Given the description of an element on the screen output the (x, y) to click on. 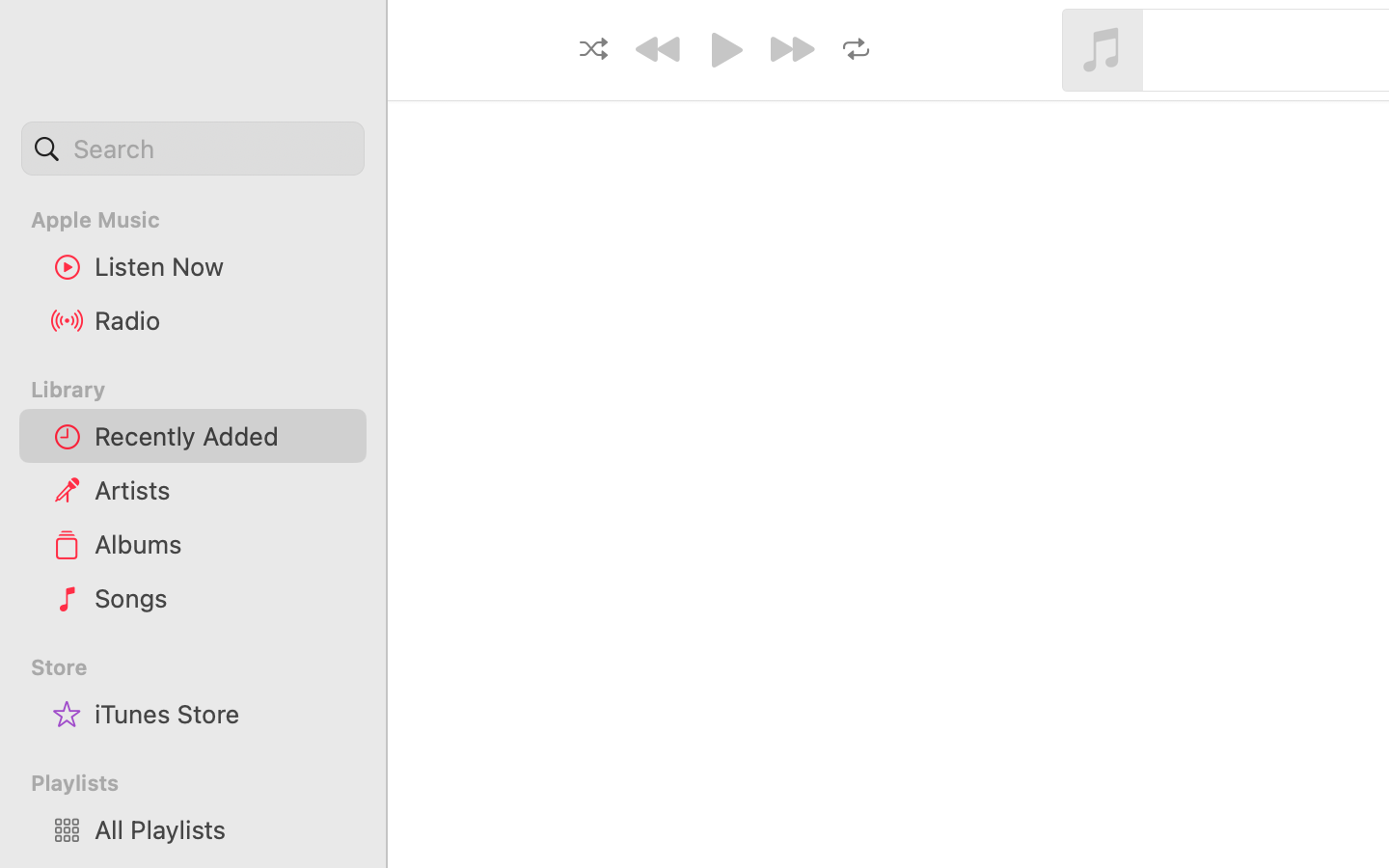
Store Element type: AXStaticText (204, 666)
Artists Element type: AXStaticText (222, 489)
